Given the description of an element on the screen output the (x, y) to click on. 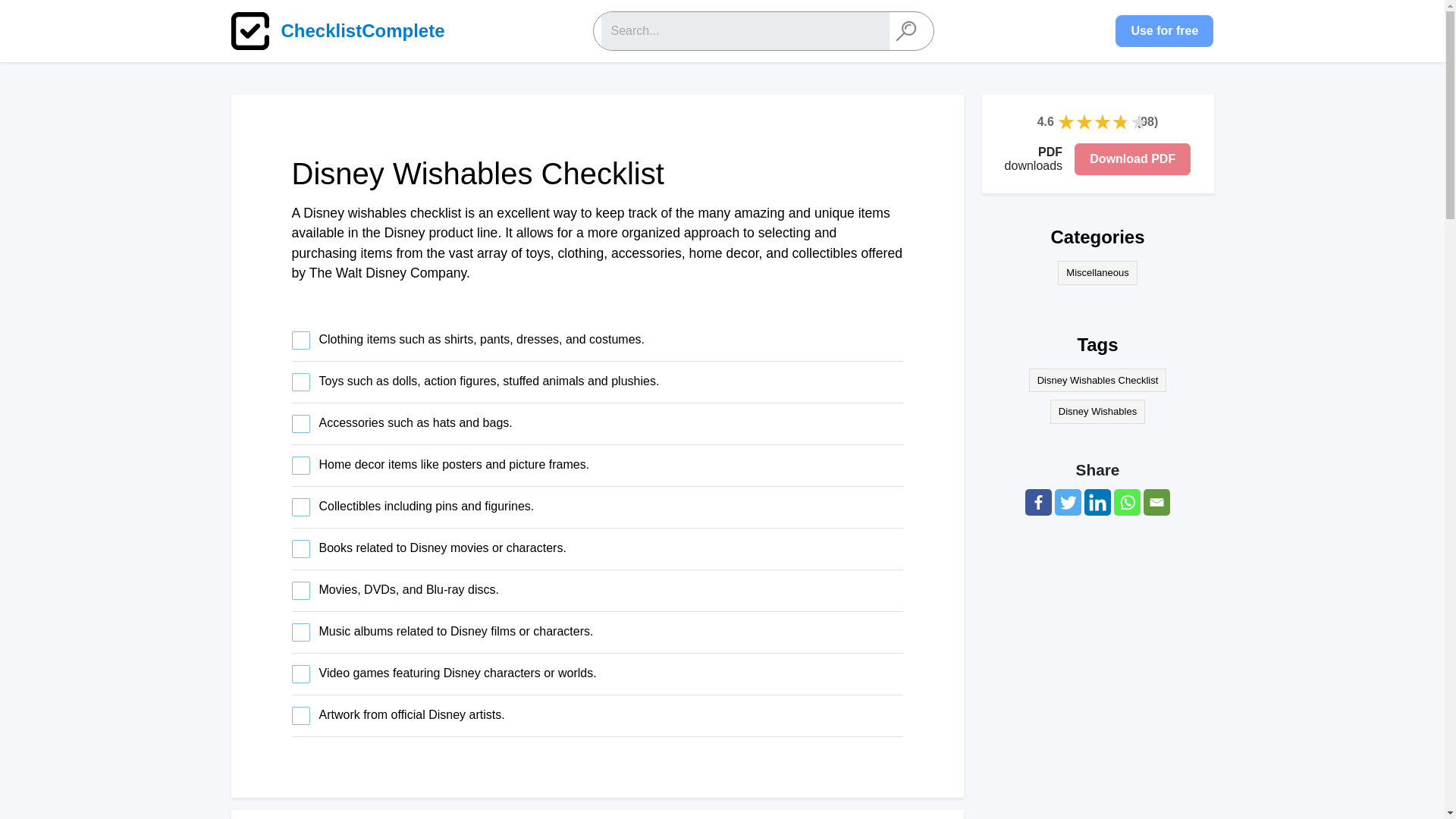
Use for free (1163, 30)
Disney Wishables (1096, 411)
Email (1156, 501)
Linkedin (1097, 501)
Miscellaneous (1097, 273)
Facebook (1038, 501)
Download PDF (1132, 159)
Disney Wishables Checklist (1098, 380)
Whatsapp (1126, 501)
Twitter (1067, 501)
ChecklistComplete (346, 30)
